Given the description of an element on the screen output the (x, y) to click on. 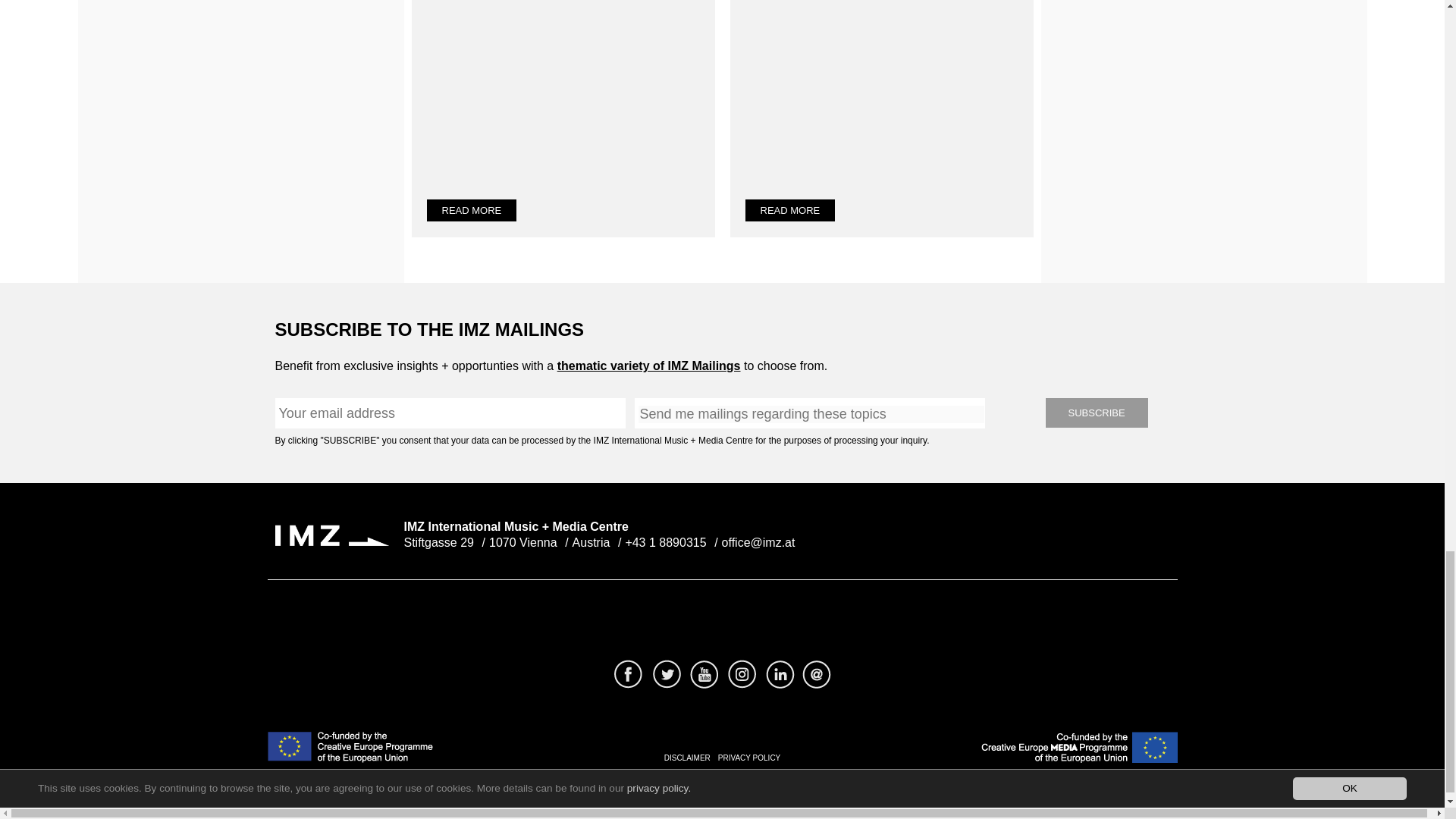
READ MORE (789, 210)
READ MORE (471, 210)
thematic variety of IMZ Mailings (649, 365)
SUBSCRIBE (1096, 412)
SUBSCRIBE (1096, 412)
